Given the description of an element on the screen output the (x, y) to click on. 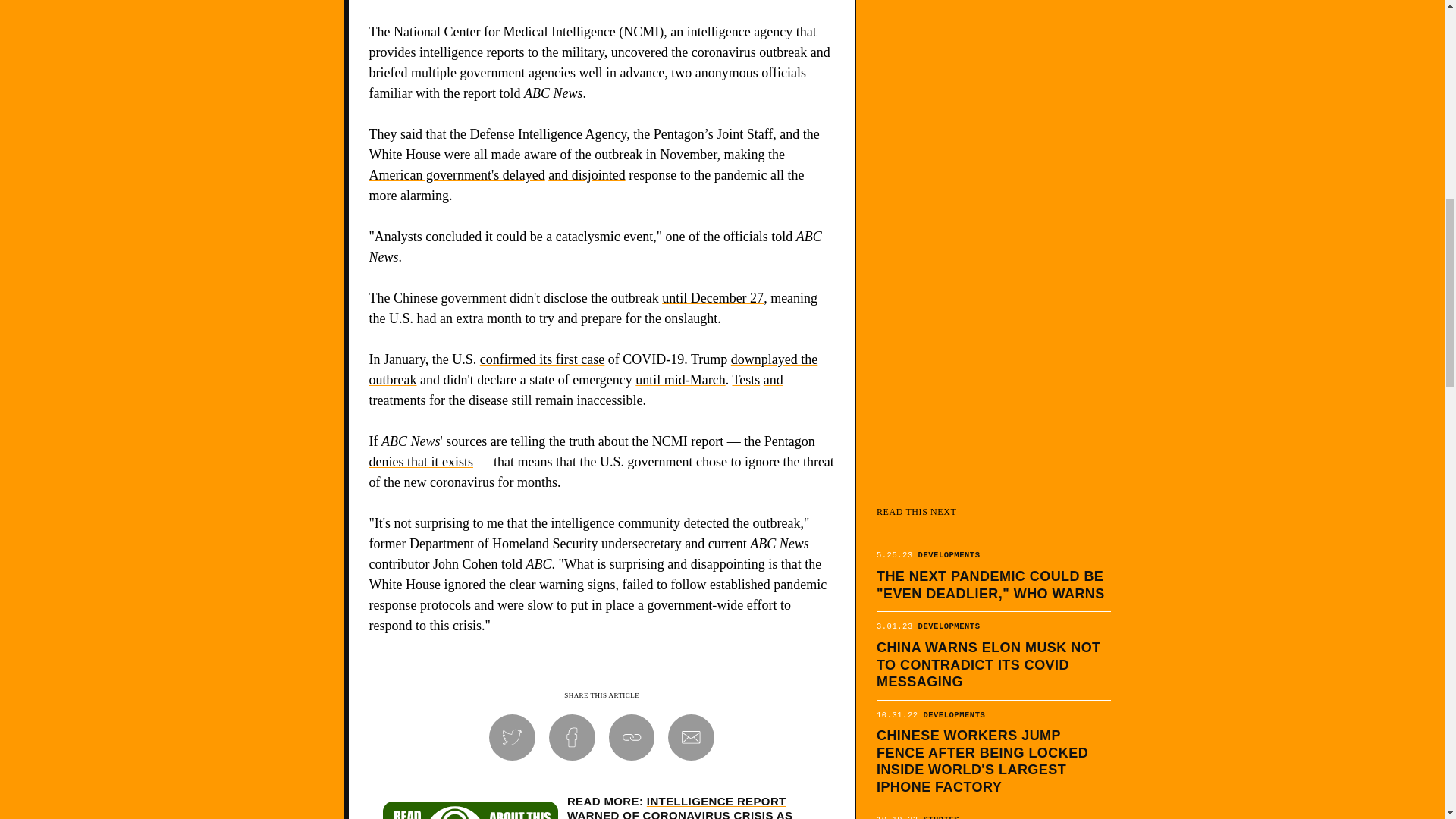
Copy Link (631, 737)
Share via Email (691, 737)
and treatments (575, 389)
American government's delayed (456, 174)
and disjointed (587, 174)
until mid-March (679, 379)
